Given the description of an element on the screen output the (x, y) to click on. 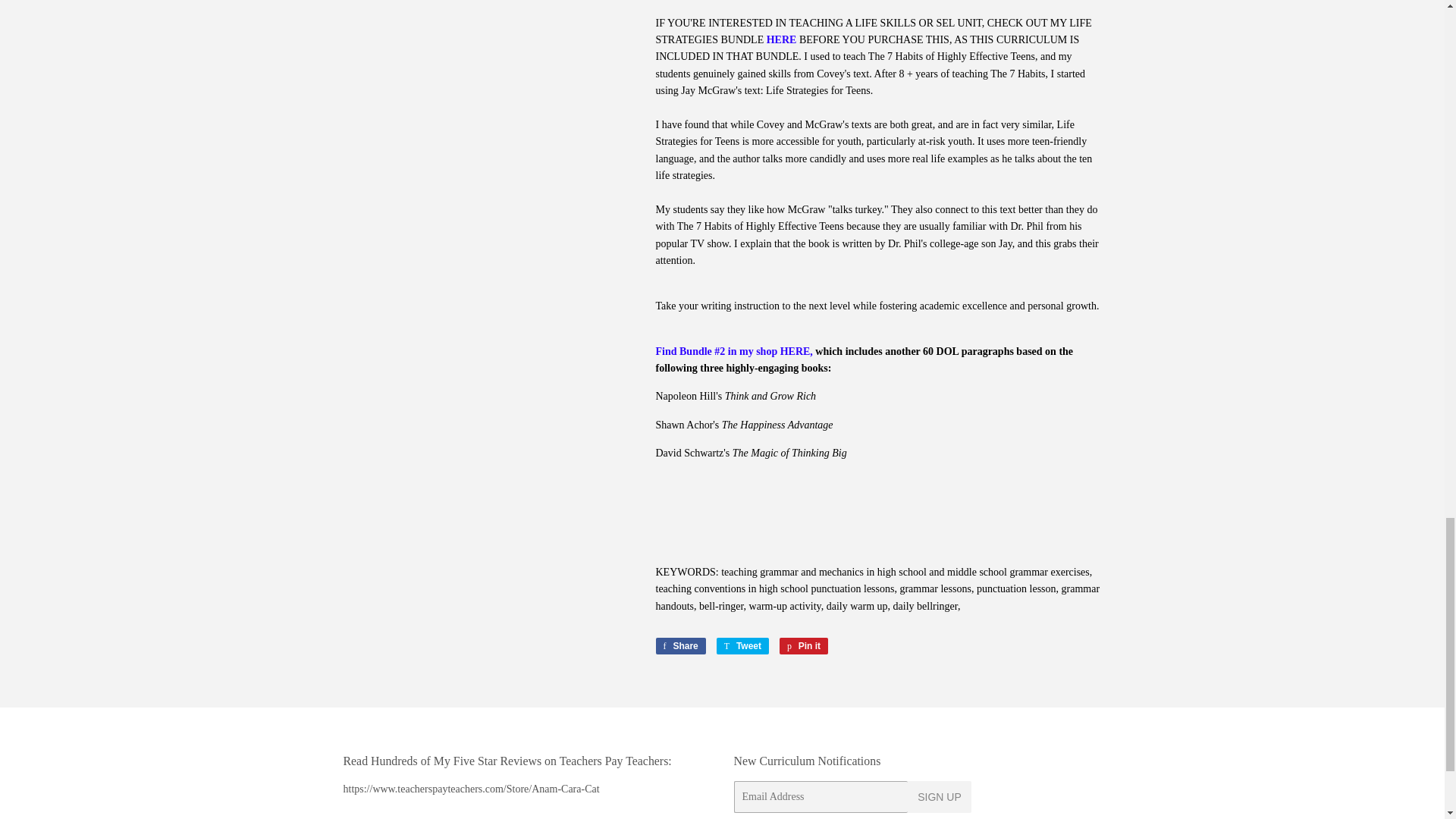
Share on Facebook (679, 646)
HERE (783, 39)
Pin on Pinterest (803, 646)
Tweet on Twitter (679, 646)
SIGN UP (742, 646)
